Given the description of an element on the screen output the (x, y) to click on. 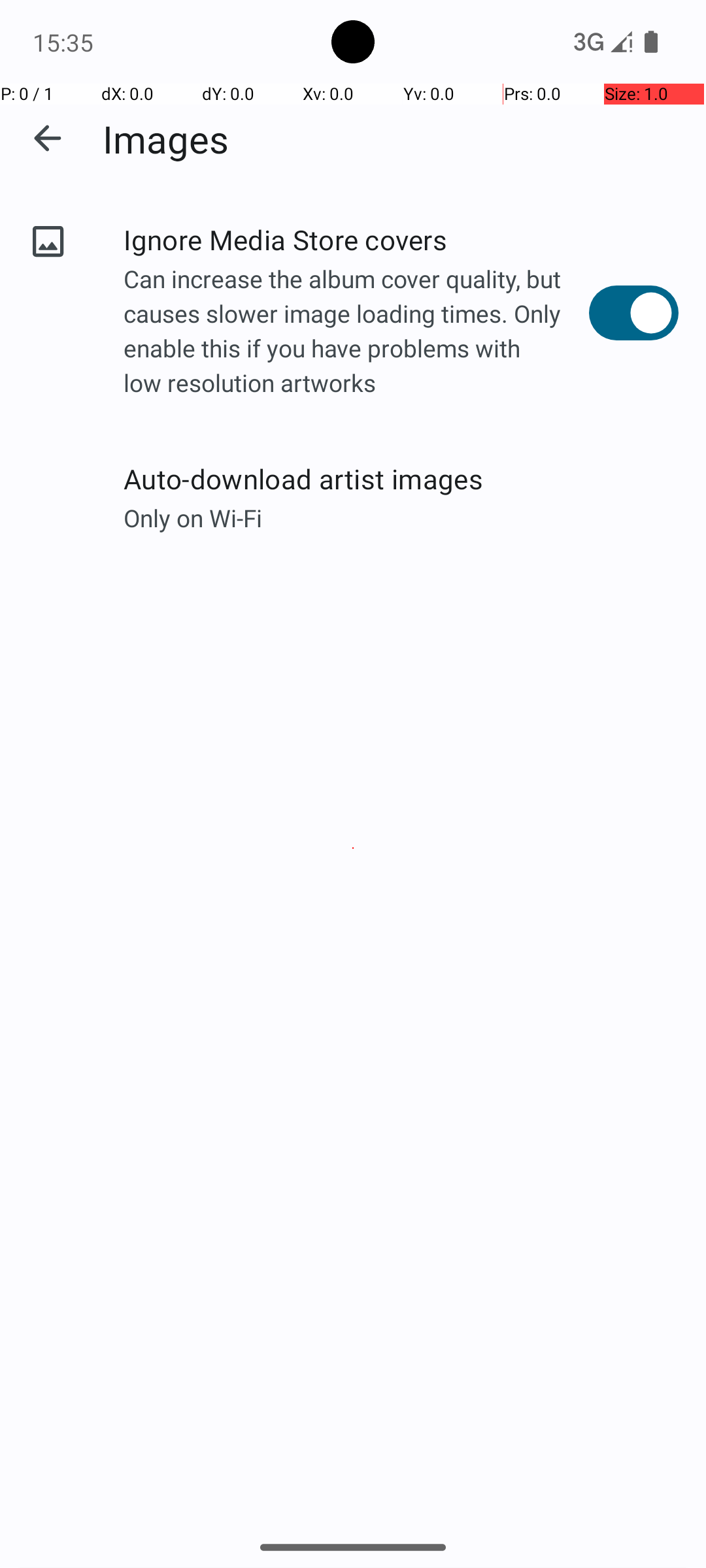
Ignore Media Store covers Element type: android.widget.TextView (355, 239)
Can increase the album cover quality, but causes slower image loading times. Only enable this if you have problems with low resolution artworks Element type: android.widget.TextView (355, 333)
Auto-download artist images Element type: android.widget.TextView (400, 478)
Only on Wi-Fi Element type: android.widget.TextView (400, 517)
